Given the description of an element on the screen output the (x, y) to click on. 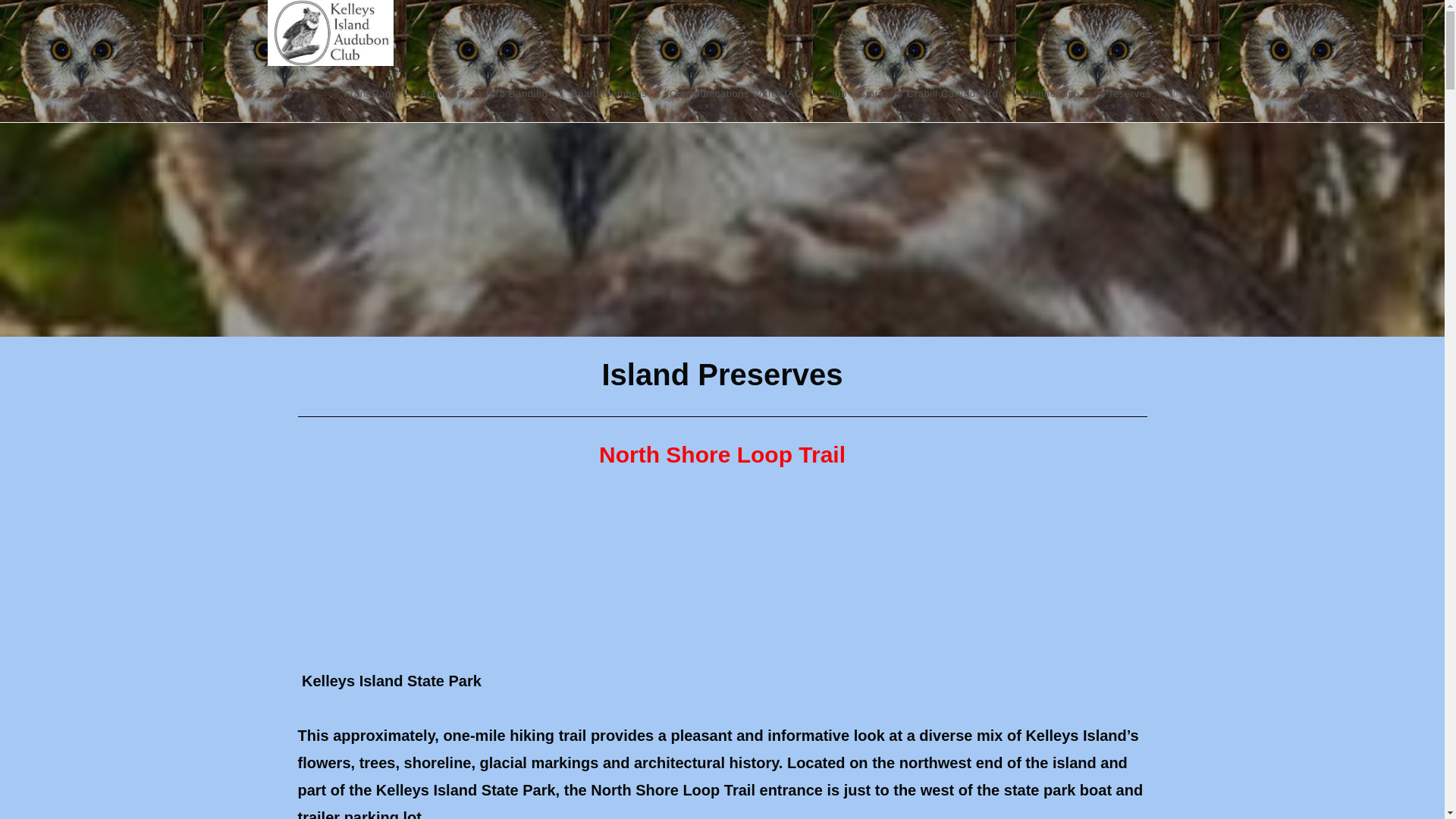
Board Members (608, 94)
Preserves (1125, 94)
Front Page (369, 94)
Communications With KIAC (735, 94)
Crabill Carved Bird (952, 94)
Bird Banding (516, 94)
Club History (854, 94)
Membership (1049, 94)
Activities (441, 94)
